Given the description of an element on the screen output the (x, y) to click on. 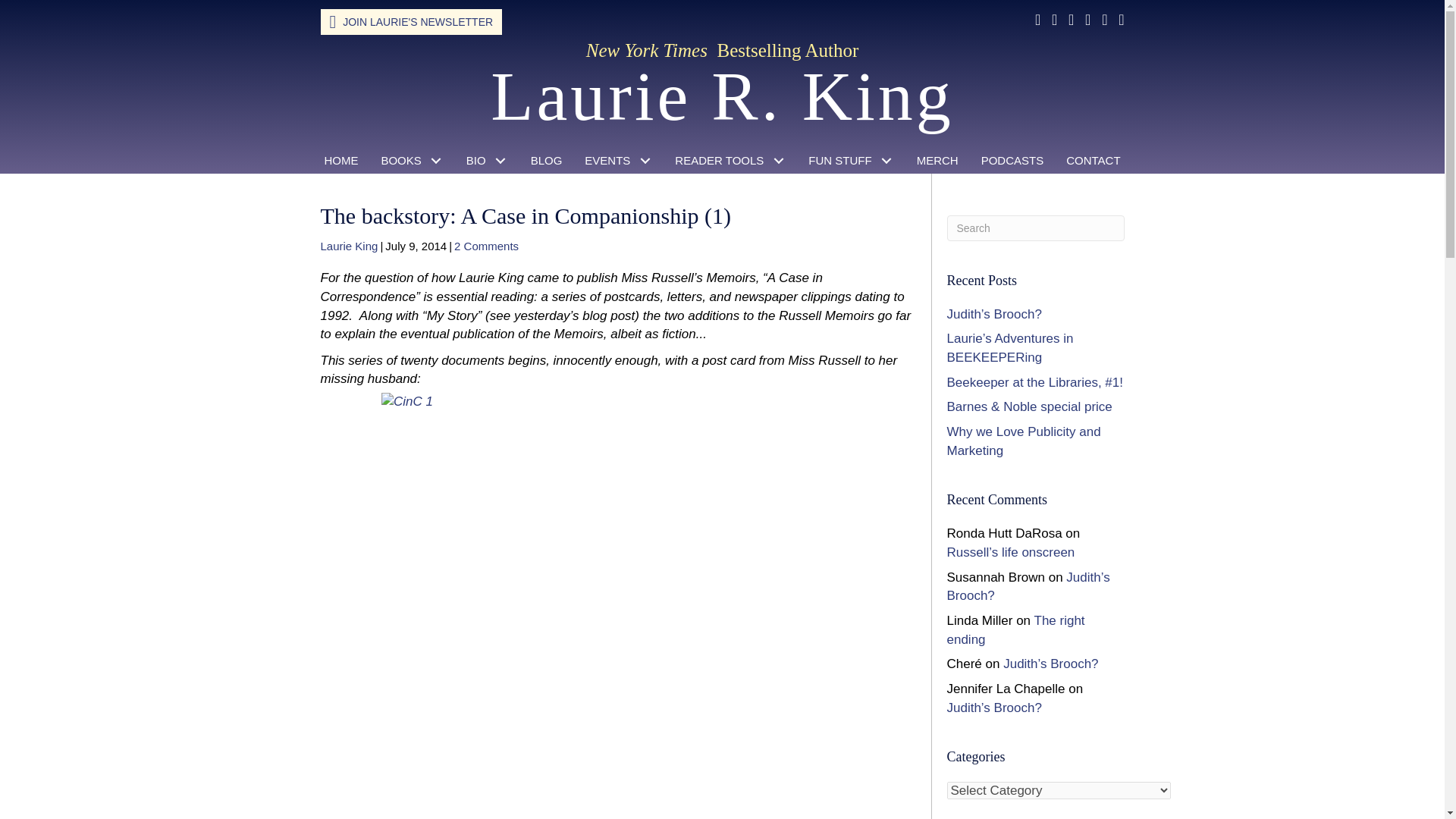
READER TOOLS (729, 160)
BIO (486, 160)
Laurie R. King (721, 96)
Type and press Enter to search. (1035, 227)
BLOG (546, 160)
BOOKS (411, 160)
FUN STUFF (850, 160)
New York Times  Bestselling Author (722, 50)
HOME (341, 160)
JOIN LAURIE'S NEWSLETTER (411, 22)
Laurie R. King (721, 96)
EVENTS (618, 160)
